Given the description of an element on the screen output the (x, y) to click on. 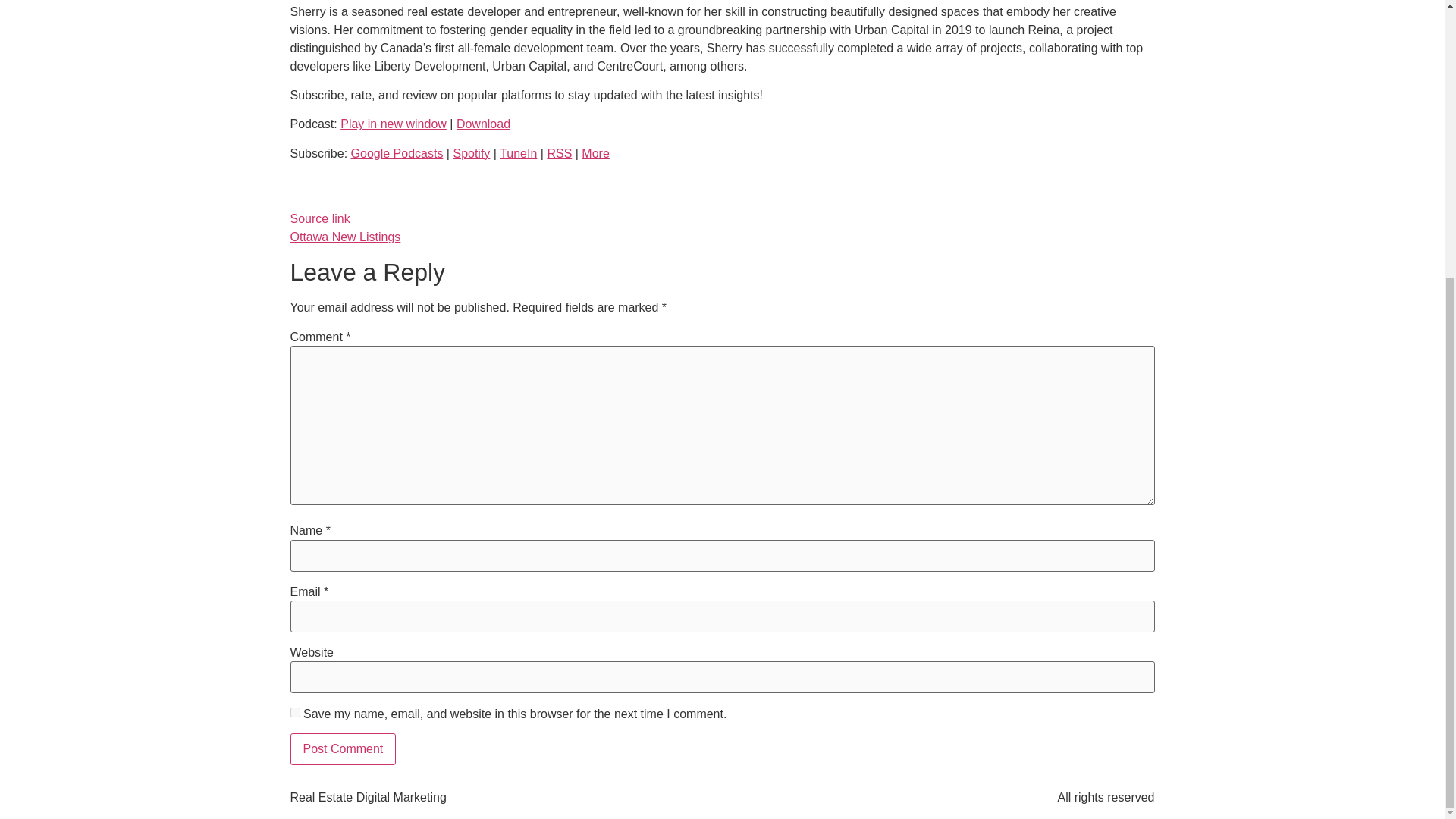
Ottawa New Listings (344, 236)
Post Comment (342, 748)
Subscribe on Google Podcasts (397, 153)
Play in new window (393, 123)
Subscribe on Spotify (470, 153)
Download (484, 123)
More (594, 153)
Subscribe on TuneIn (518, 153)
Download (484, 123)
TuneIn (518, 153)
Google Podcasts (397, 153)
Spotify (470, 153)
RSS (559, 153)
Post Comment (342, 748)
yes (294, 712)
